Given the description of an element on the screen output the (x, y) to click on. 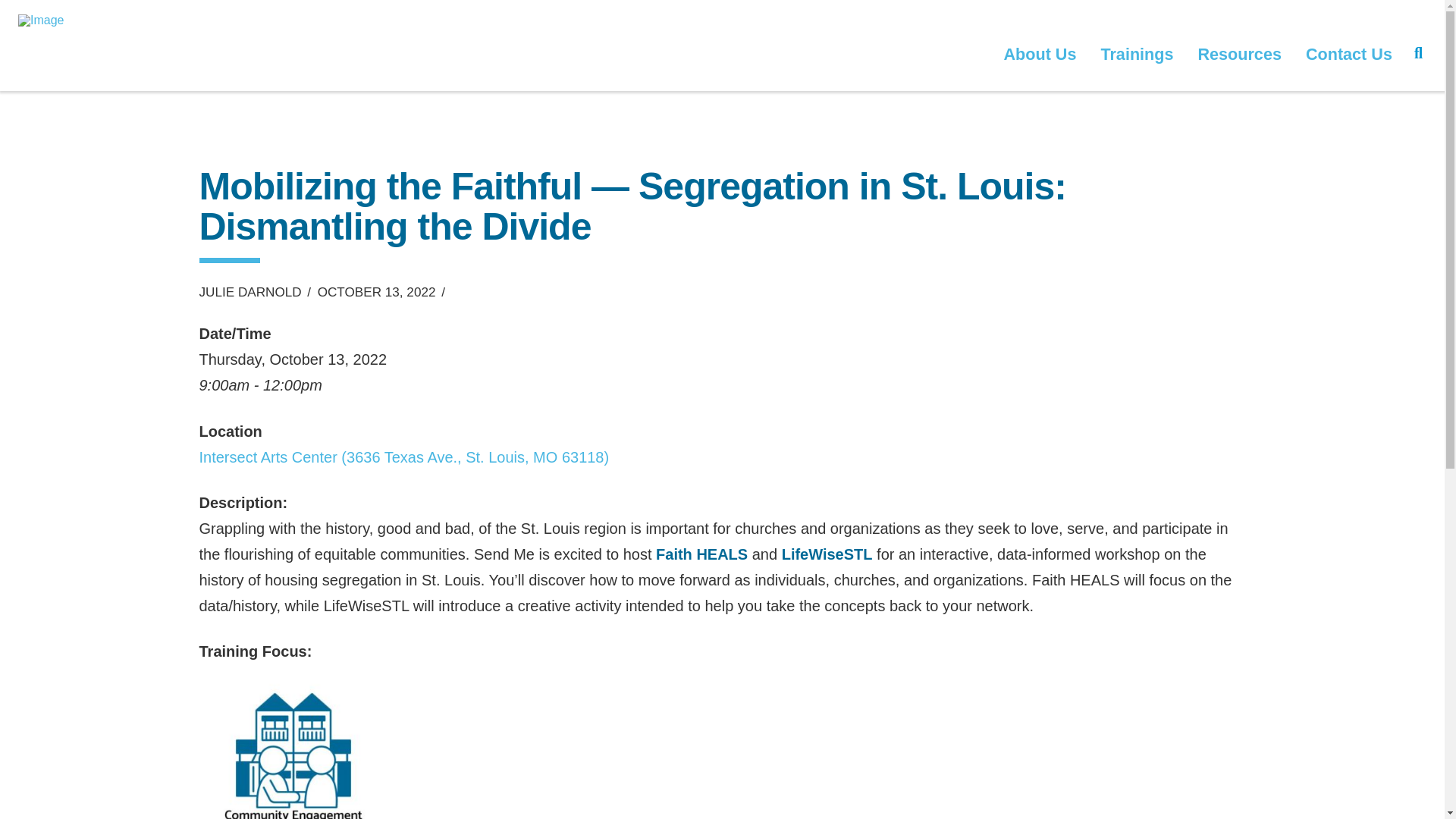
About Us (1040, 51)
LifeWiseSTL (826, 554)
Submit (777, 518)
Contact Us (1349, 51)
Resources (1238, 51)
Trainings (1136, 51)
Faith HEALS (702, 554)
